Given the description of an element on the screen output the (x, y) to click on. 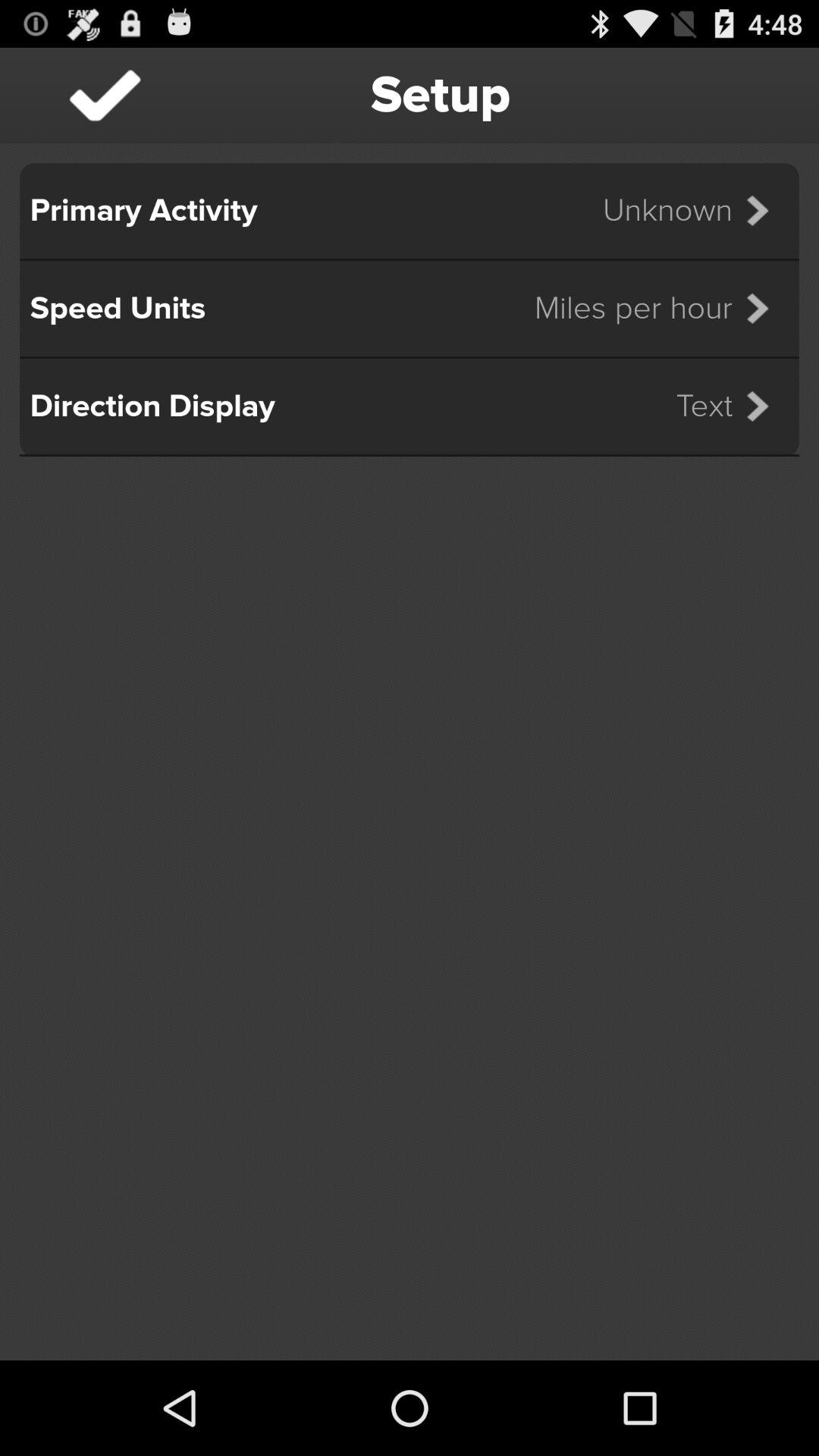
tap icon next to primary activity (695, 210)
